Given the description of an element on the screen output the (x, y) to click on. 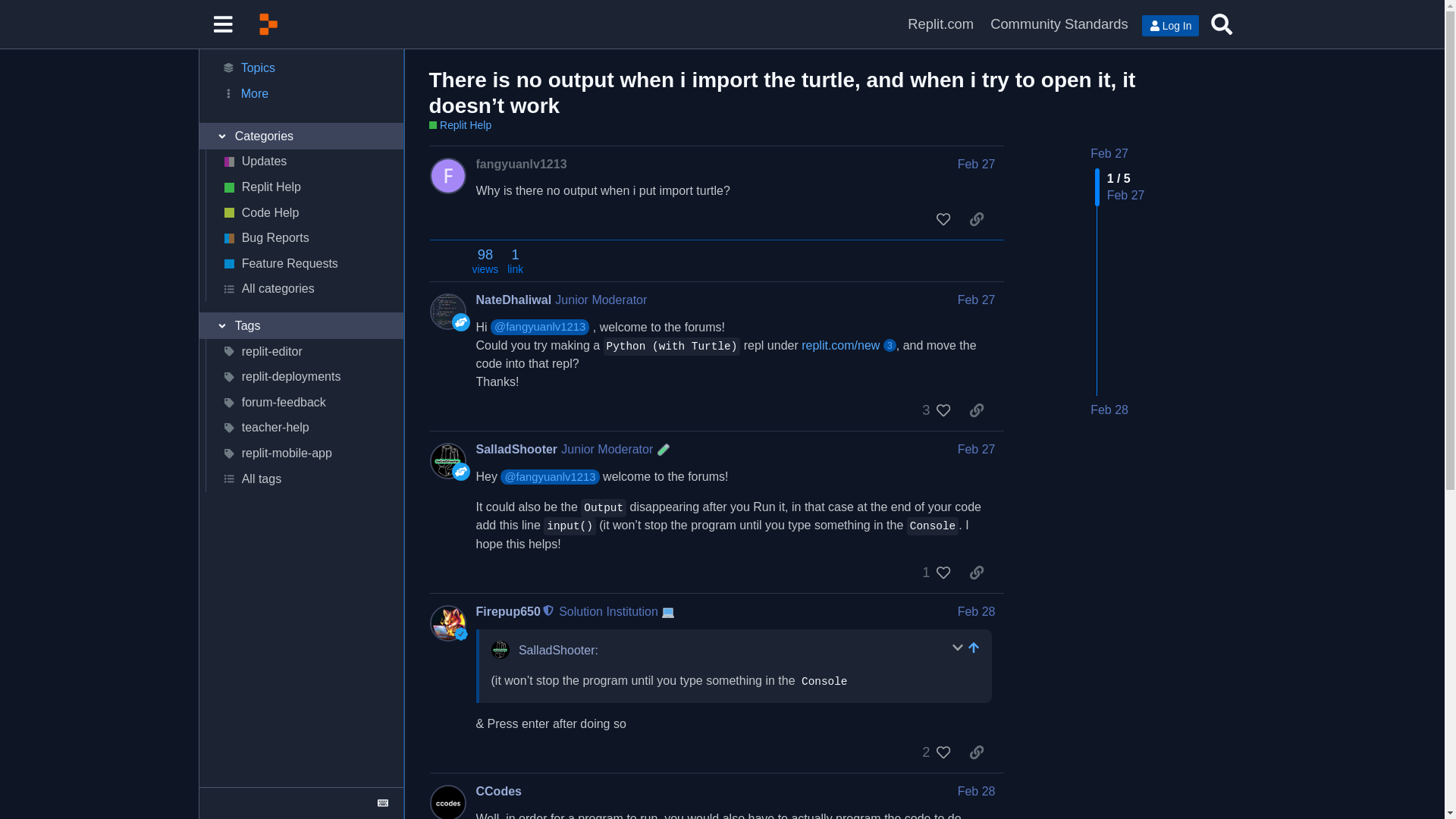
Tags (300, 325)
Toggle section (300, 135)
fangyuanlv1213 (521, 164)
Updates (304, 162)
Feb 27 (976, 164)
Get help with your code from the Replit community. (304, 212)
Keyboard Shortcuts (382, 802)
